Given the description of an element on the screen output the (x, y) to click on. 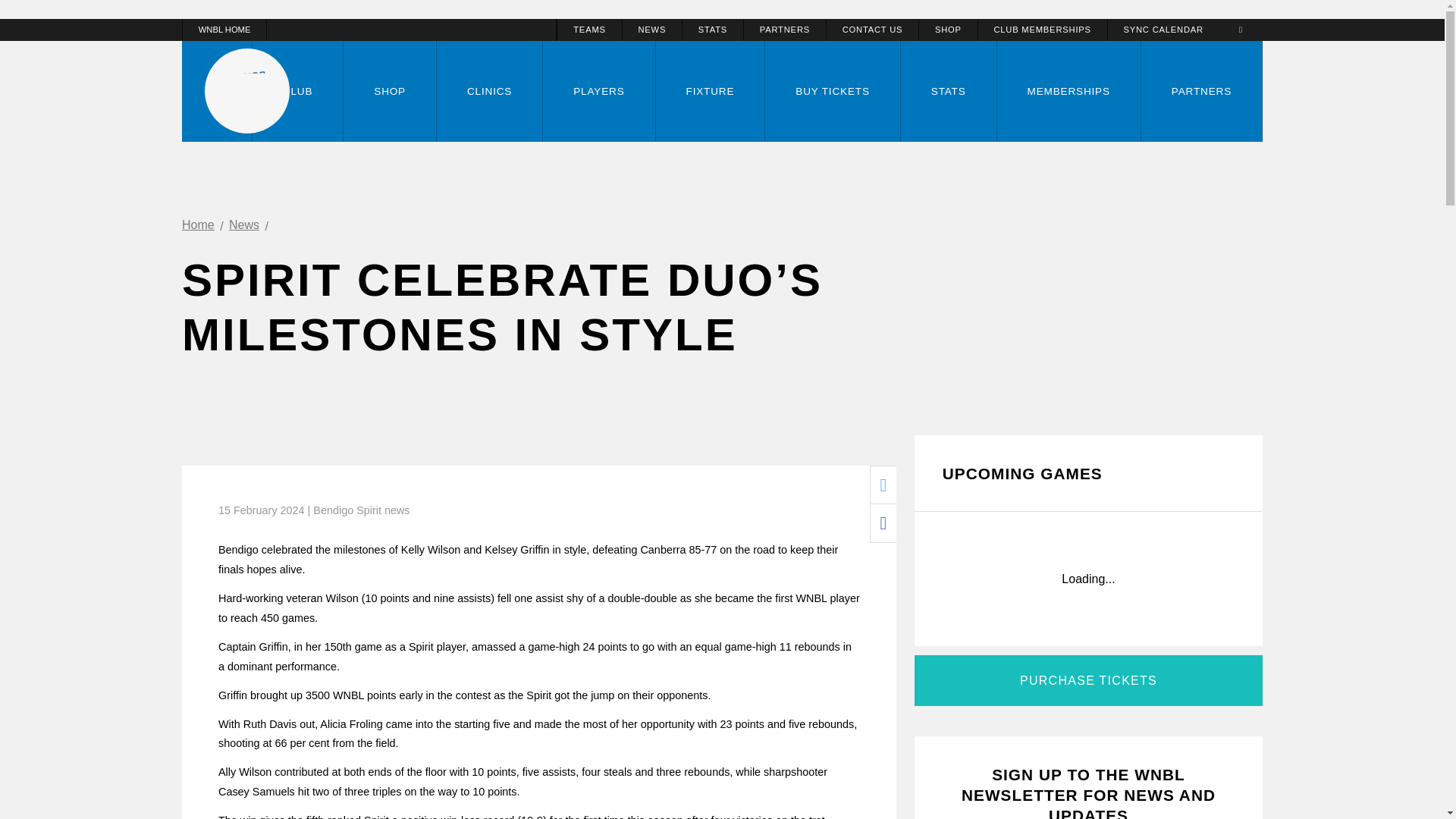
CLUB MEMBERSHIPS (1042, 29)
WNBL HOME (369, 29)
SYNC CALENDAR (1164, 29)
PARTNERS (784, 29)
TEAMS (589, 29)
NEWS (652, 29)
SHOP (947, 29)
CONTACT US (872, 29)
STATS (712, 29)
